Given the description of an element on the screen output the (x, y) to click on. 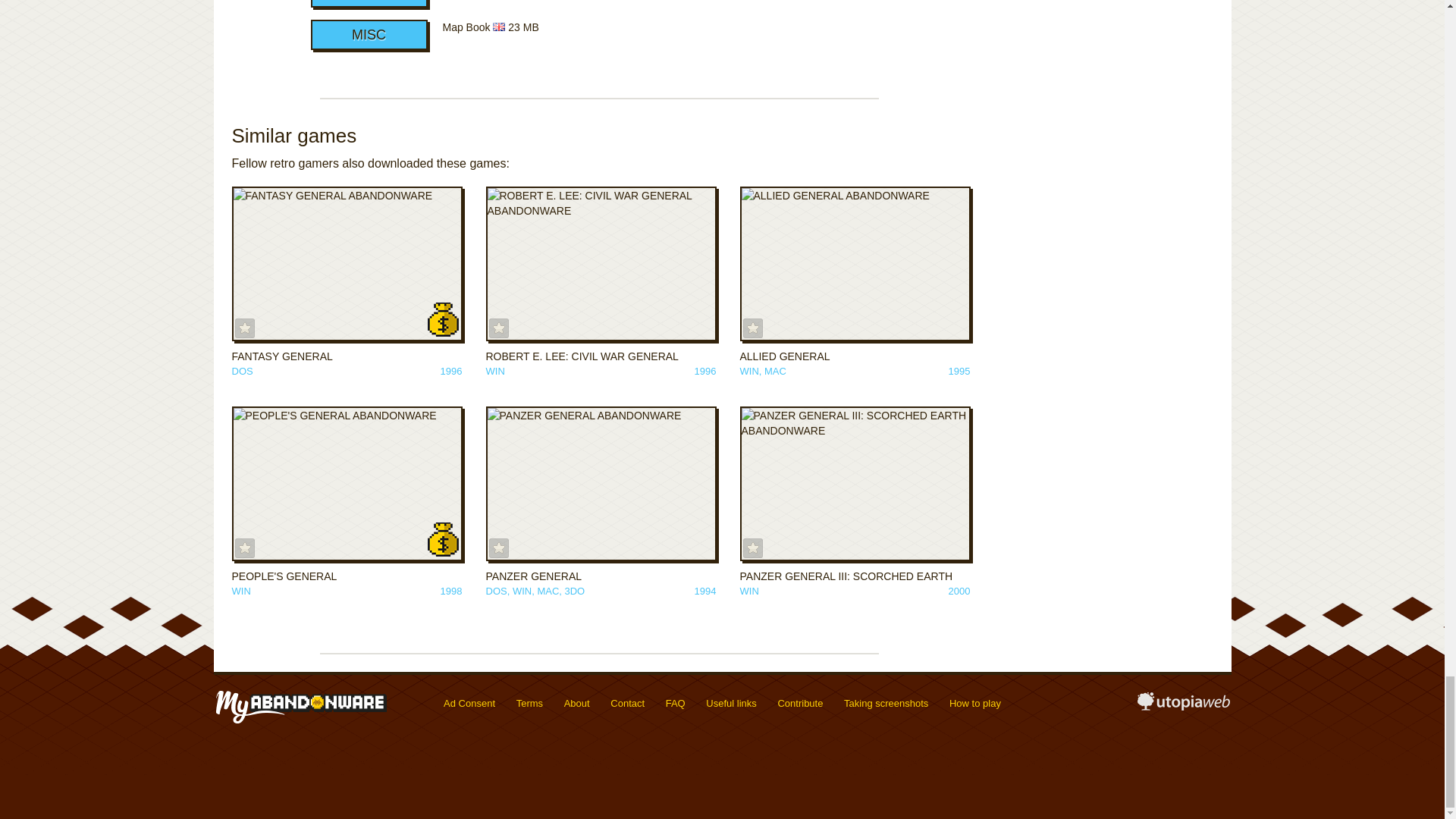
Visit utopiaweb website (1183, 706)
